Given the description of an element on the screen output the (x, y) to click on. 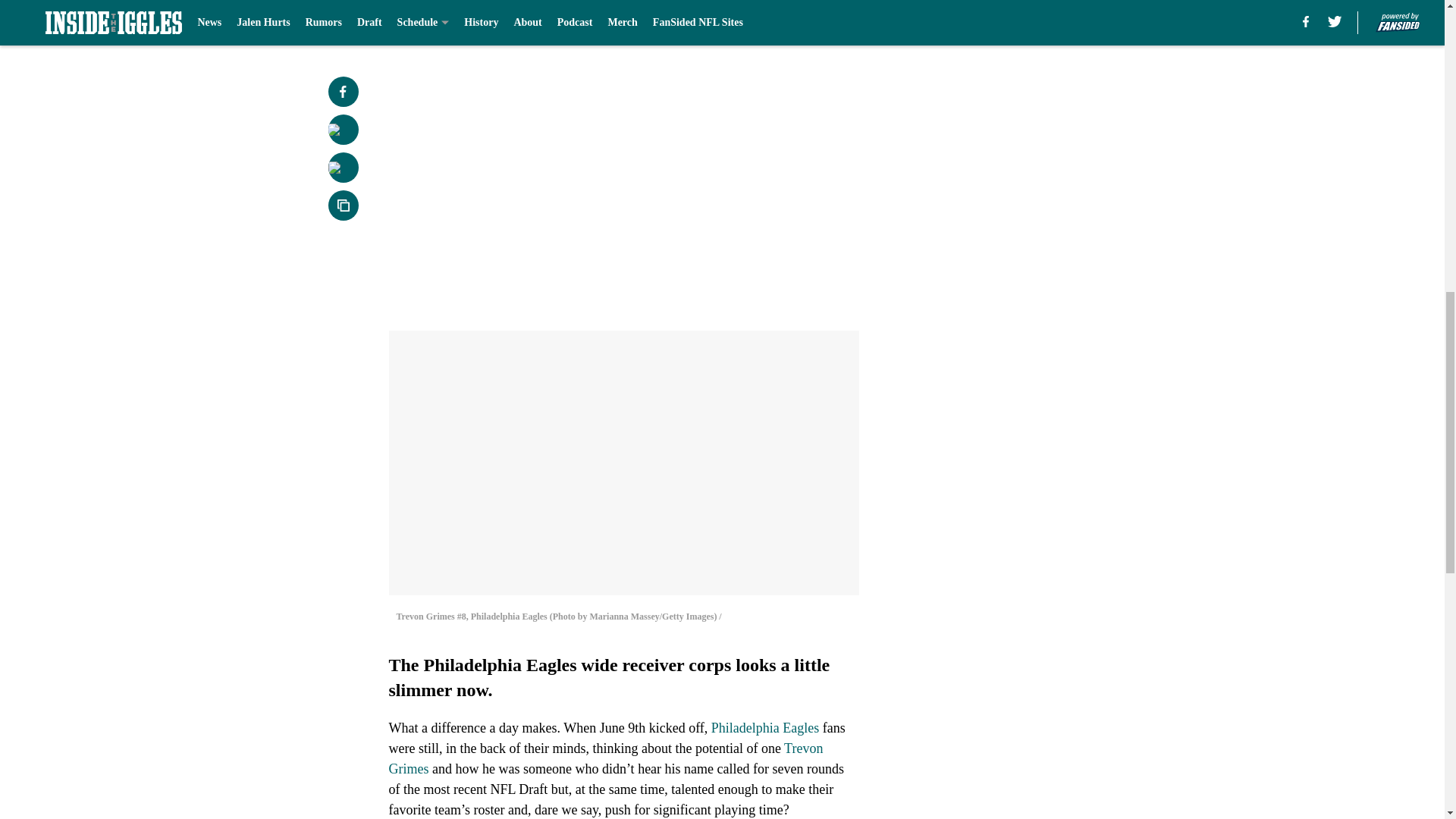
Next (813, 20)
Trevon Grimes (605, 758)
Philadelphia Eagles (764, 727)
Prev (433, 20)
